Given the description of an element on the screen output the (x, y) to click on. 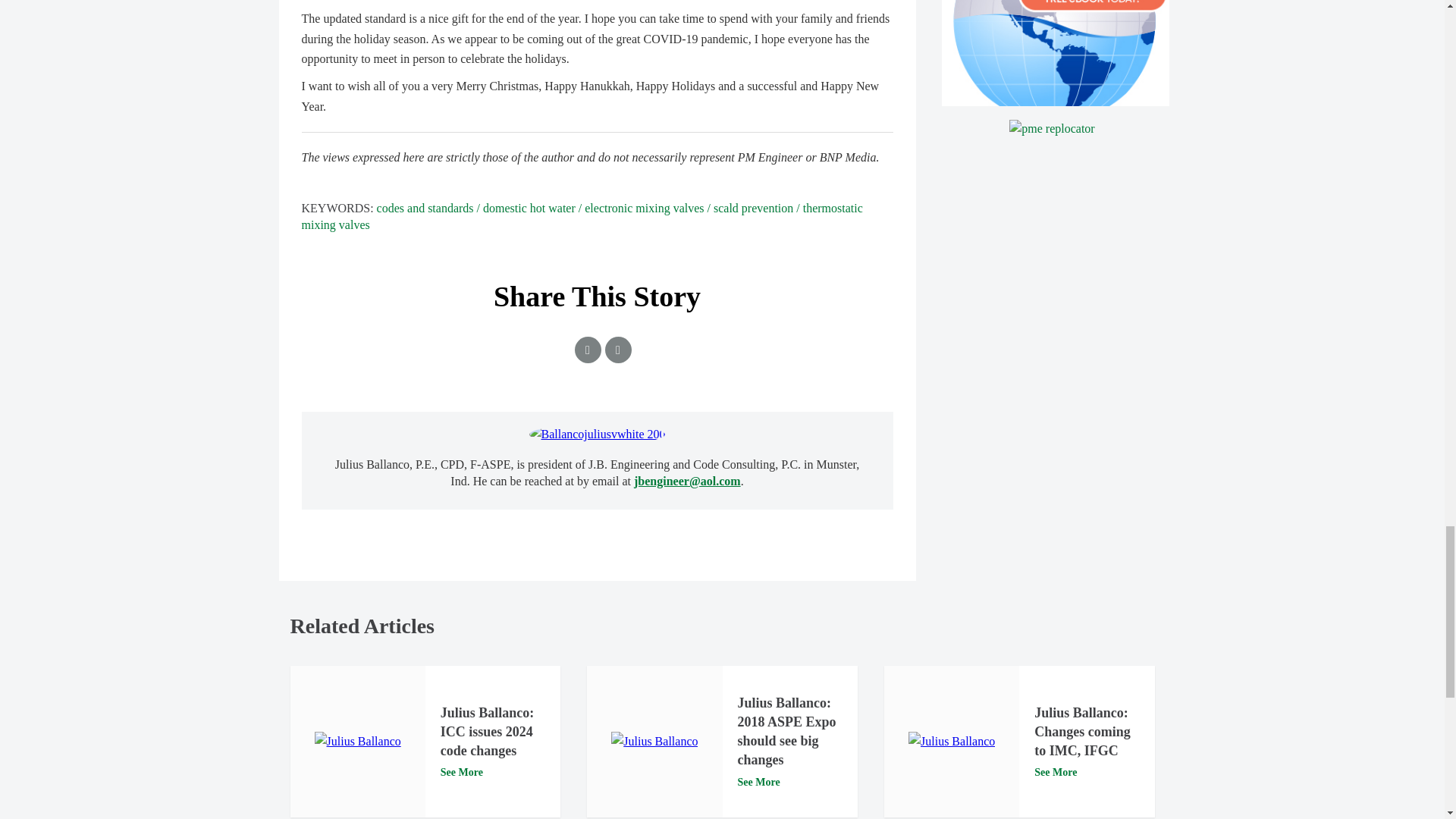
Julius Ballanco (951, 741)
Julius Ballanco (357, 741)
Julius Ballanco (654, 741)
